Given the description of an element on the screen output the (x, y) to click on. 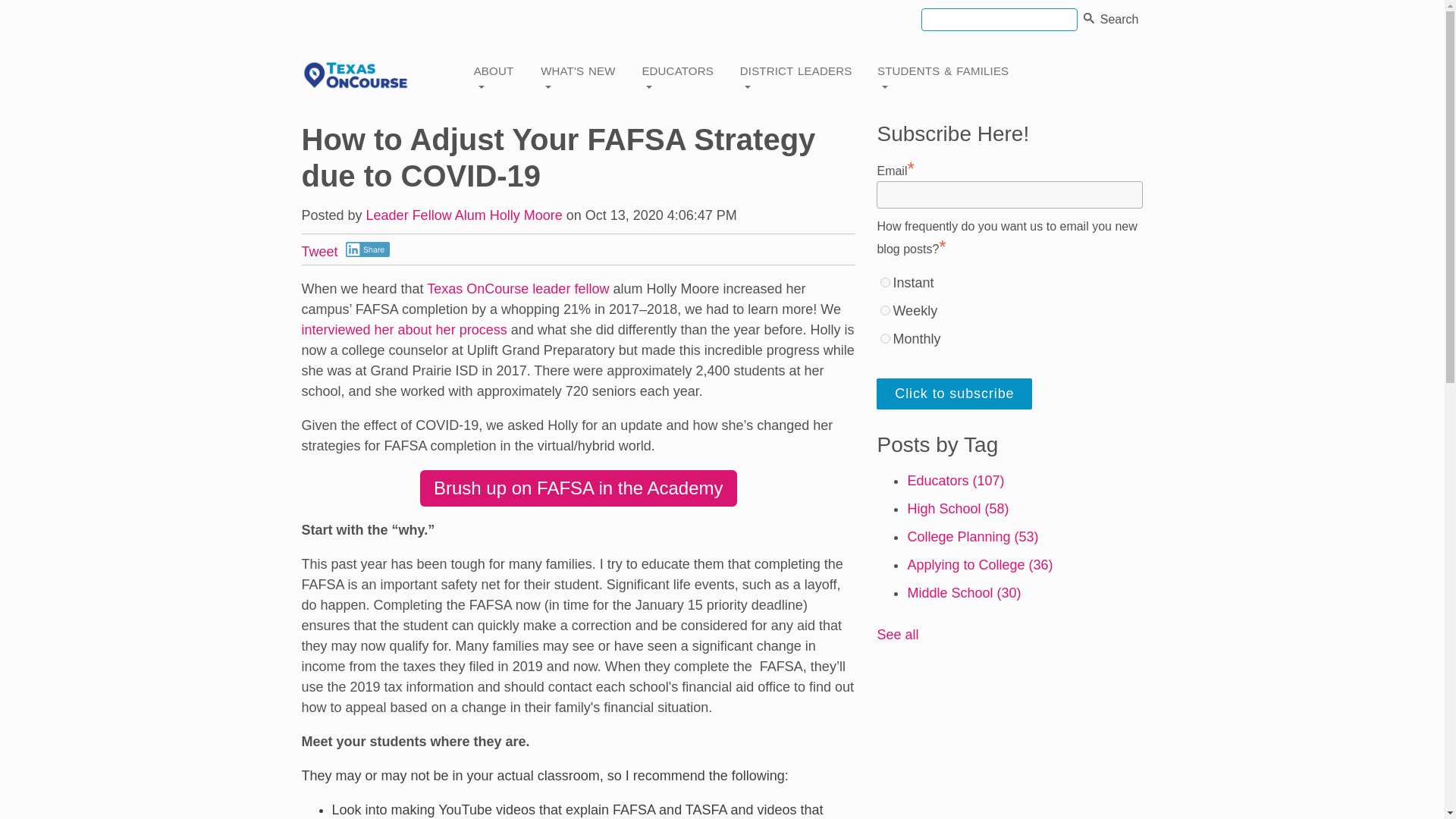
instant (884, 282)
WHAT'S NEW (581, 76)
ABOUT (498, 76)
weekly (884, 310)
EDUCATORS (681, 76)
Click to subscribe (954, 393)
DISTRICT LEADERS (799, 76)
Search (1088, 19)
Brush up on FAFSA in the Academy (578, 488)
monthly (884, 338)
Search (1121, 19)
